Given the description of an element on the screen output the (x, y) to click on. 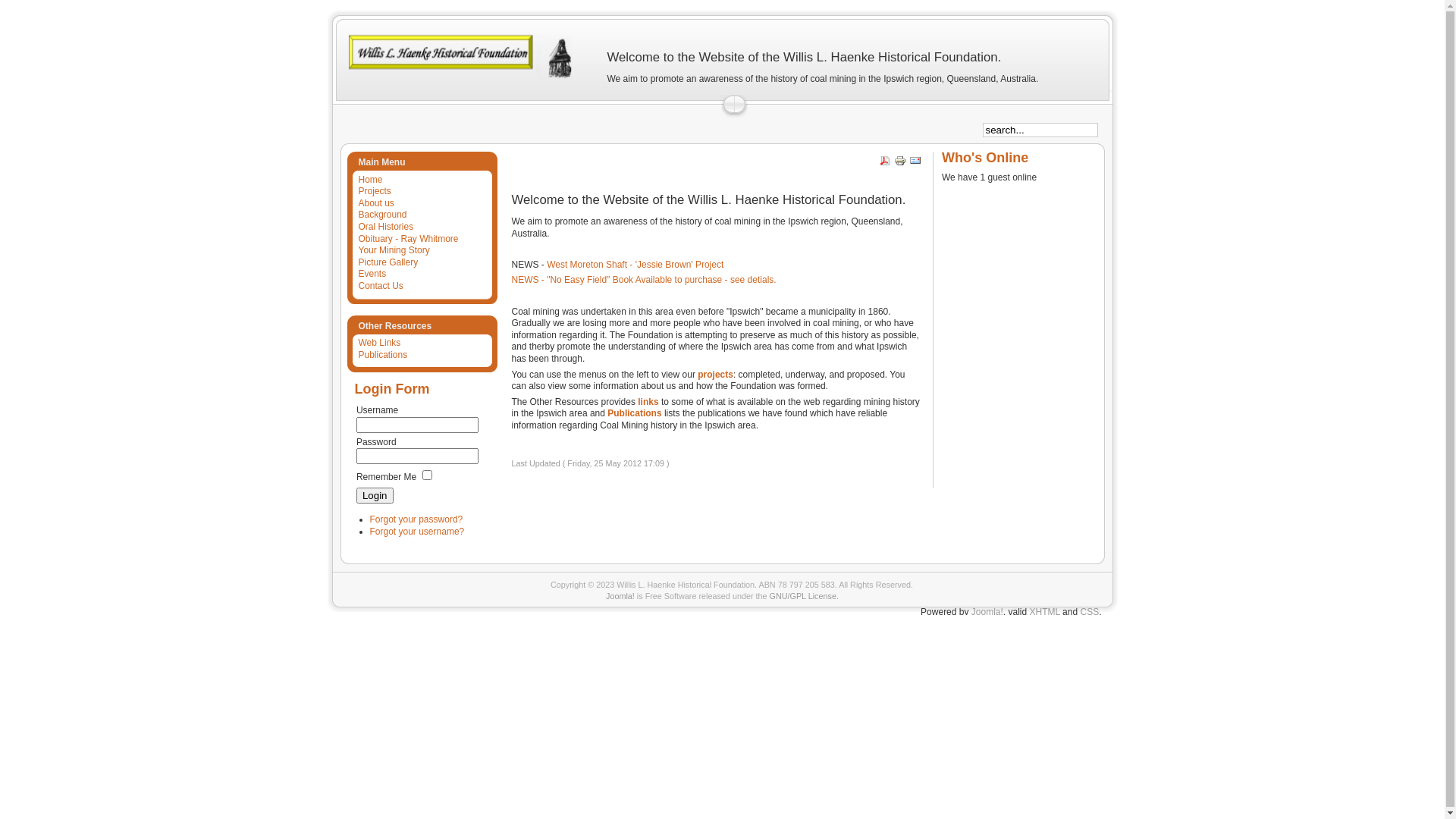
West Moreton Shaft - 'Jessie Brown' Project Element type: text (634, 264)
Your Mining Story Element type: text (391, 249)
CSS Element type: text (1088, 611)
Forgot your password? Element type: text (416, 519)
Login Element type: text (374, 495)
links Element type: text (647, 401)
Obituary - Ray Whitmore Element type: text (406, 238)
Oral Histories Element type: text (384, 226)
Joomla! Element type: text (619, 595)
XHTML Element type: text (1044, 611)
Print Element type: hover (900, 163)
Picture Gallery Element type: text (386, 262)
About us Element type: text (374, 202)
Web Links Element type: text (377, 342)
Background Element type: text (380, 214)
projects Element type: text (715, 374)
Forgot your username? Element type: text (417, 531)
Publications Element type: text (634, 412)
Projects Element type: text (372, 190)
PDF Element type: hover (884, 163)
Home Element type: text (368, 179)
E-mail Element type: hover (915, 163)
GNU/GPL License. Element type: text (803, 595)
Publications Element type: text (380, 354)
Contact Us Element type: text (378, 285)
Joomla! Element type: text (987, 611)
Events Element type: text (370, 273)
